Given the description of an element on the screen output the (x, y) to click on. 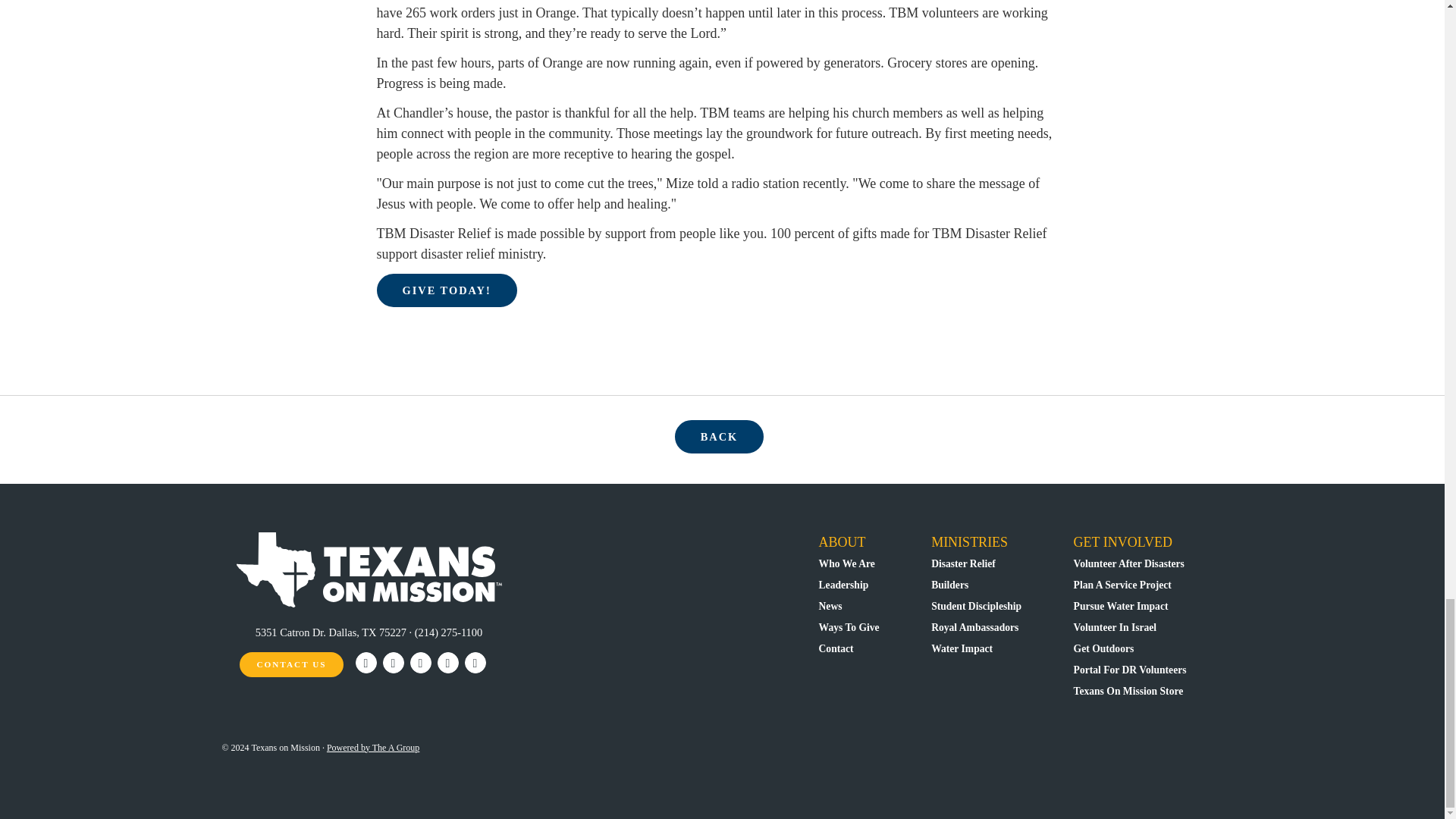
MINISTRIES (969, 541)
News (830, 605)
BACK (719, 436)
Student Discipleship (976, 605)
Water Impact (961, 648)
Disaster Relief (963, 563)
Builders (949, 584)
Contact (835, 648)
ABOUT (842, 541)
Royal Ambassadors (974, 627)
